Given the description of an element on the screen output the (x, y) to click on. 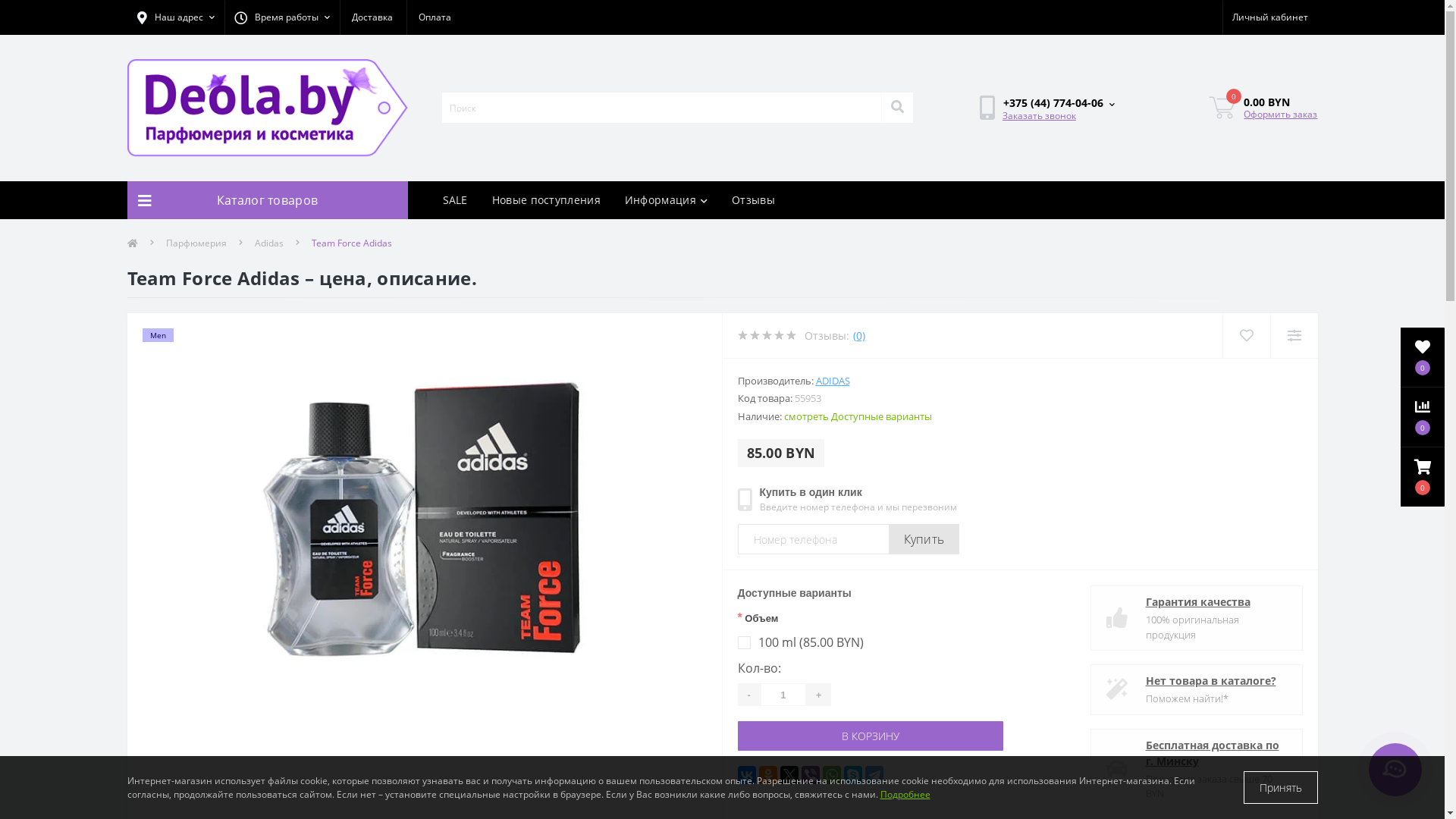
0 Element type: text (1422, 416)
Viber Element type: hover (809, 774)
ADIDAS Element type: text (832, 380)
- Element type: text (748, 694)
0 Element type: text (1422, 476)
0 Element type: text (1225, 107)
Deola.by Element type: hover (267, 107)
(0) Element type: text (858, 335)
+ Element type: text (818, 694)
SALE Element type: text (455, 200)
Twitter Element type: hover (788, 774)
Skype Element type: hover (852, 774)
0 Element type: text (1422, 356)
Telegram Element type: hover (873, 774)
Adidas Element type: text (268, 243)
+375 (44) 774-04-06 Element type: text (1061, 101)
WhatsApp Element type: hover (831, 774)
